Given the description of an element on the screen output the (x, y) to click on. 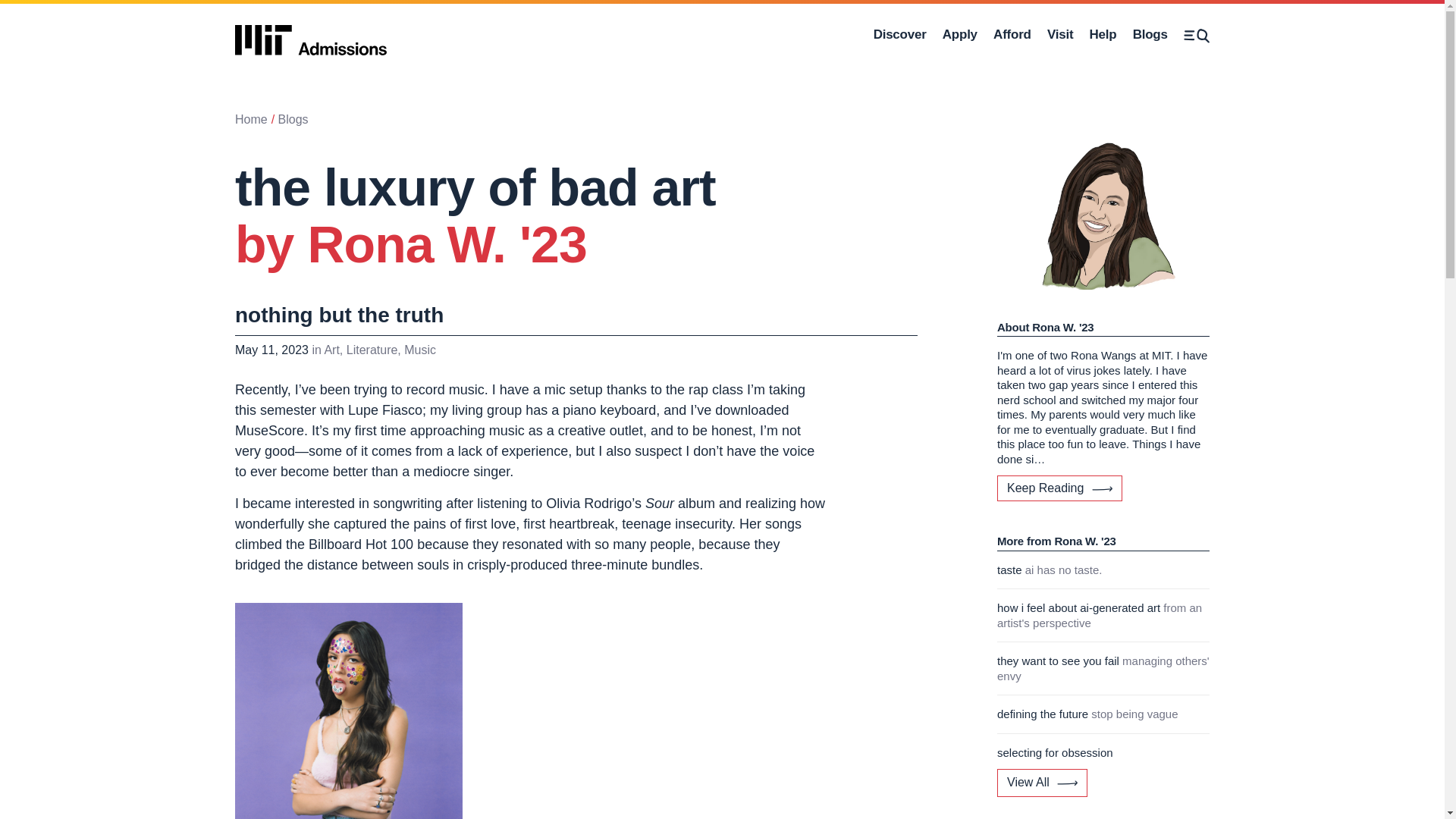
An arrow pointing right (1196, 34)
Blogs (1067, 782)
Afford (1149, 35)
Home (1011, 35)
Apply (250, 119)
Discover (959, 35)
MIT logo (899, 35)
MIT logo (310, 40)
Visit (310, 35)
